Given the description of an element on the screen output the (x, y) to click on. 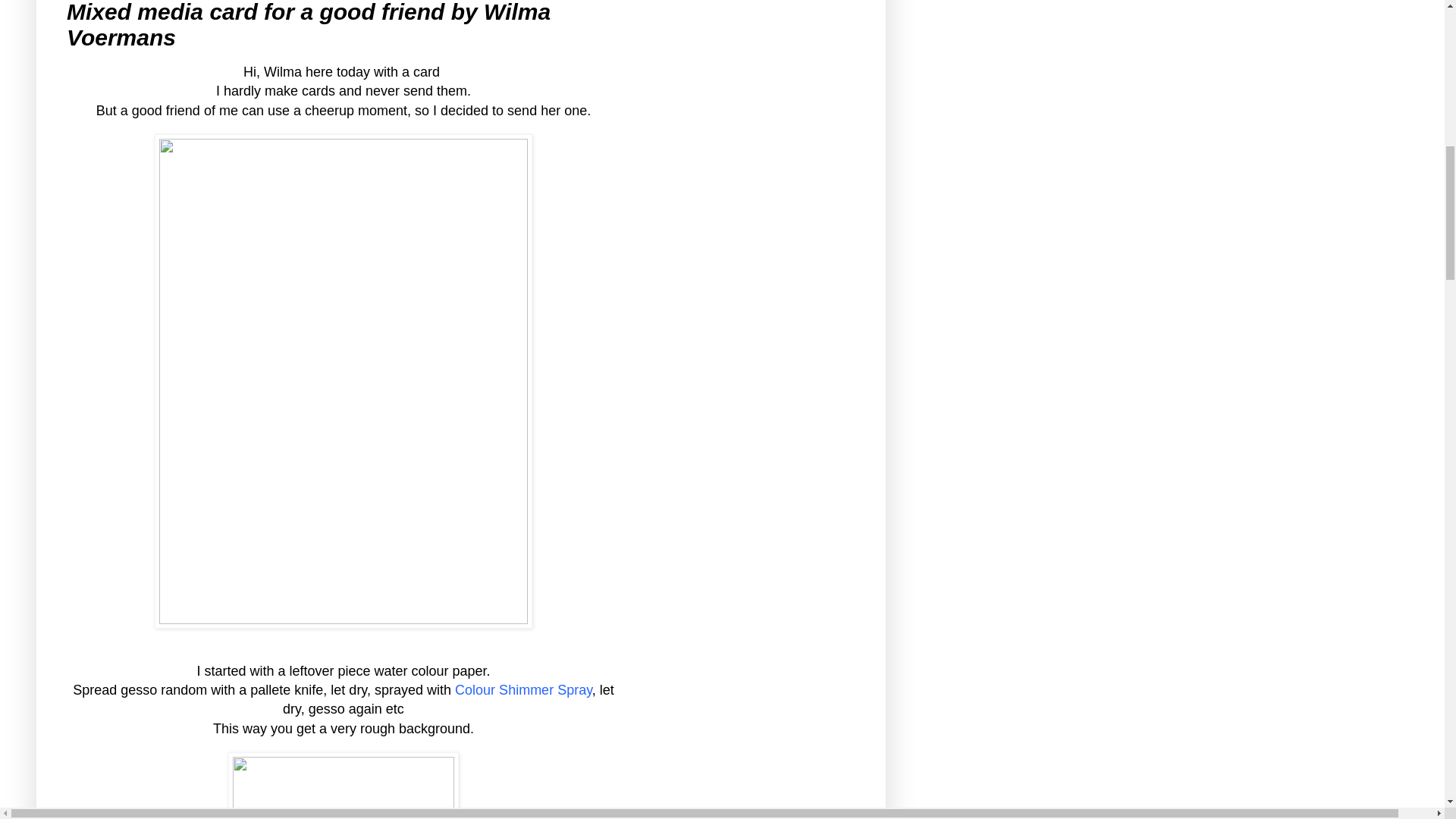
Colour Shimmer Spray (523, 689)
